Given the description of an element on the screen output the (x, y) to click on. 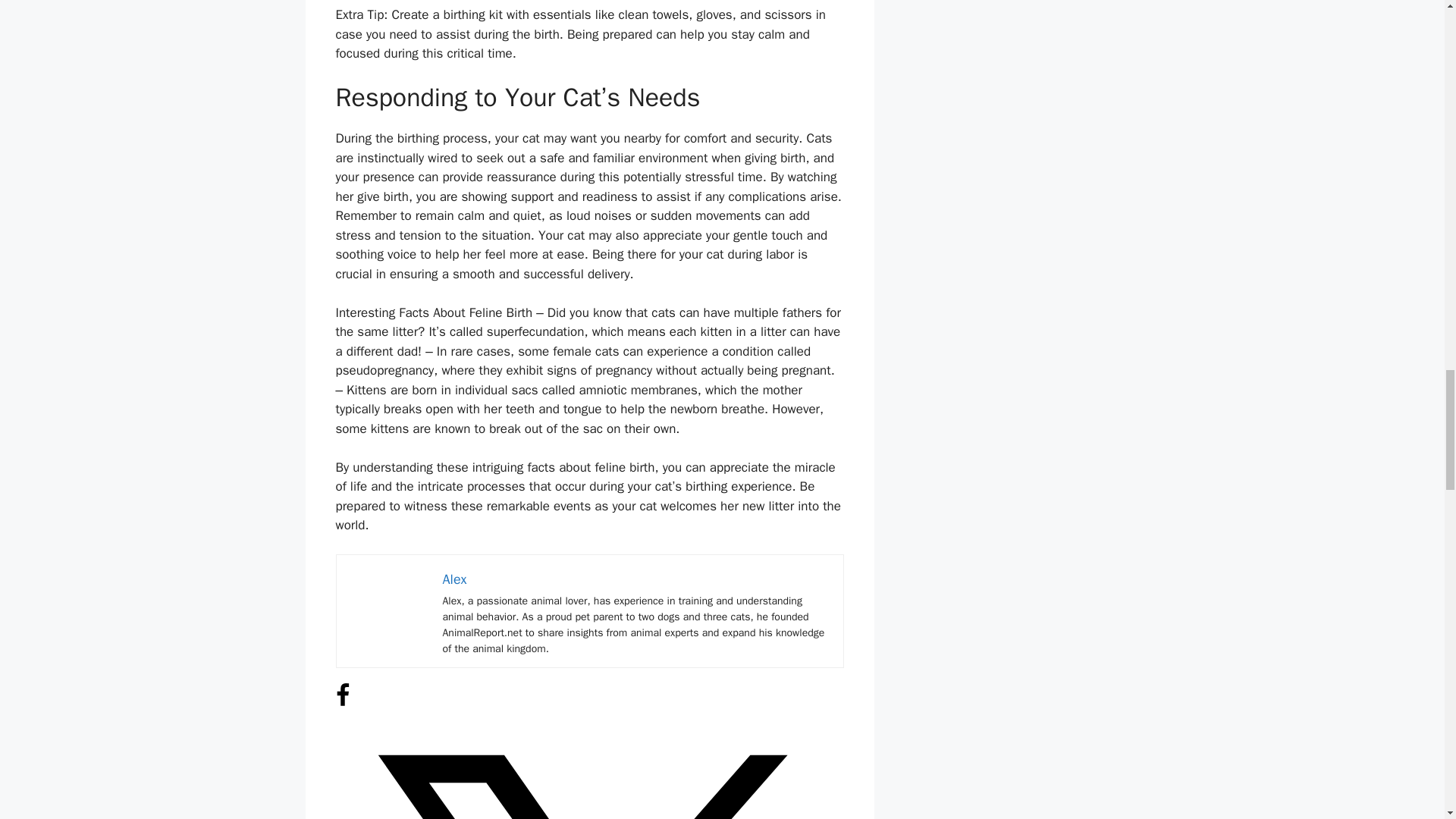
Alex (454, 579)
Share on Facebook (341, 703)
